Given the description of an element on the screen output the (x, y) to click on. 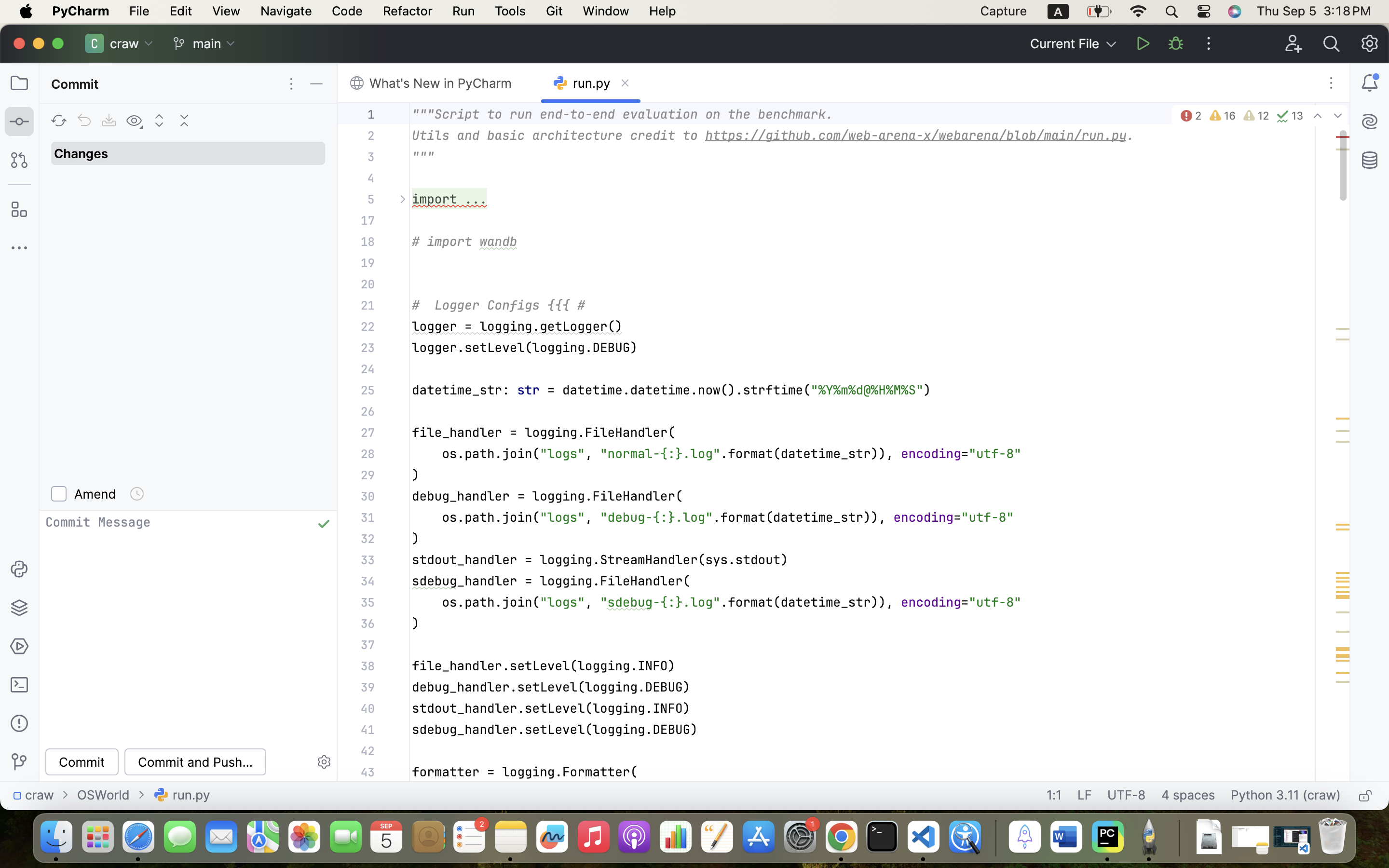
UTF-8 Element type: AXStaticText (1126, 796)
2 Element type: AXStaticText (1189, 115)
1:1 Element type: AXStaticText (1053, 796)
0 Element type: AXRadioButton (439, 83)
